Given the description of an element on the screen output the (x, y) to click on. 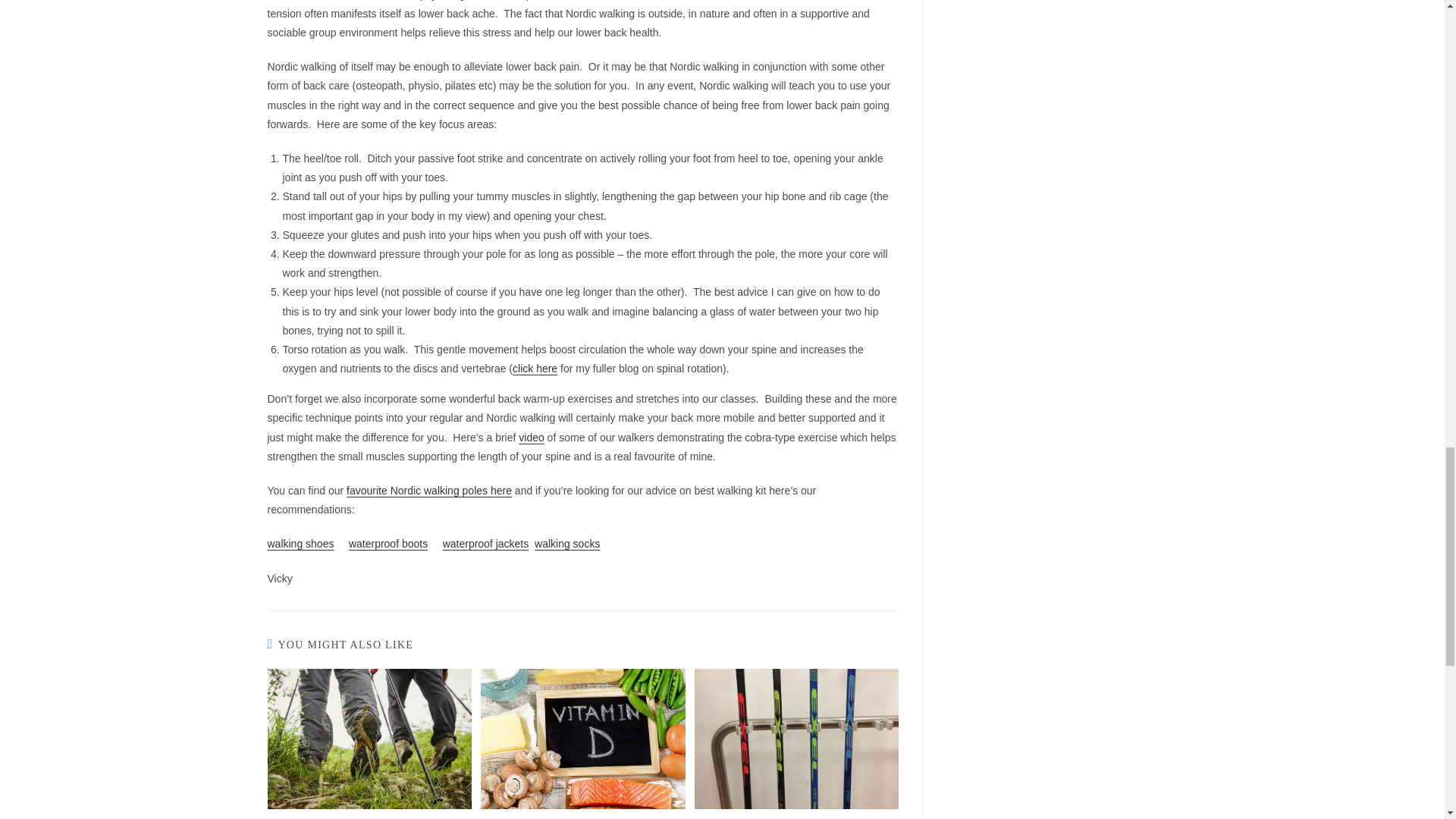
waterproof jackets (485, 543)
favourite Nordic walking poles here (429, 490)
video (530, 437)
walking socks (566, 543)
click here (534, 368)
walking shoes (299, 543)
waterproof boots (388, 543)
